Given the description of an element on the screen output the (x, y) to click on. 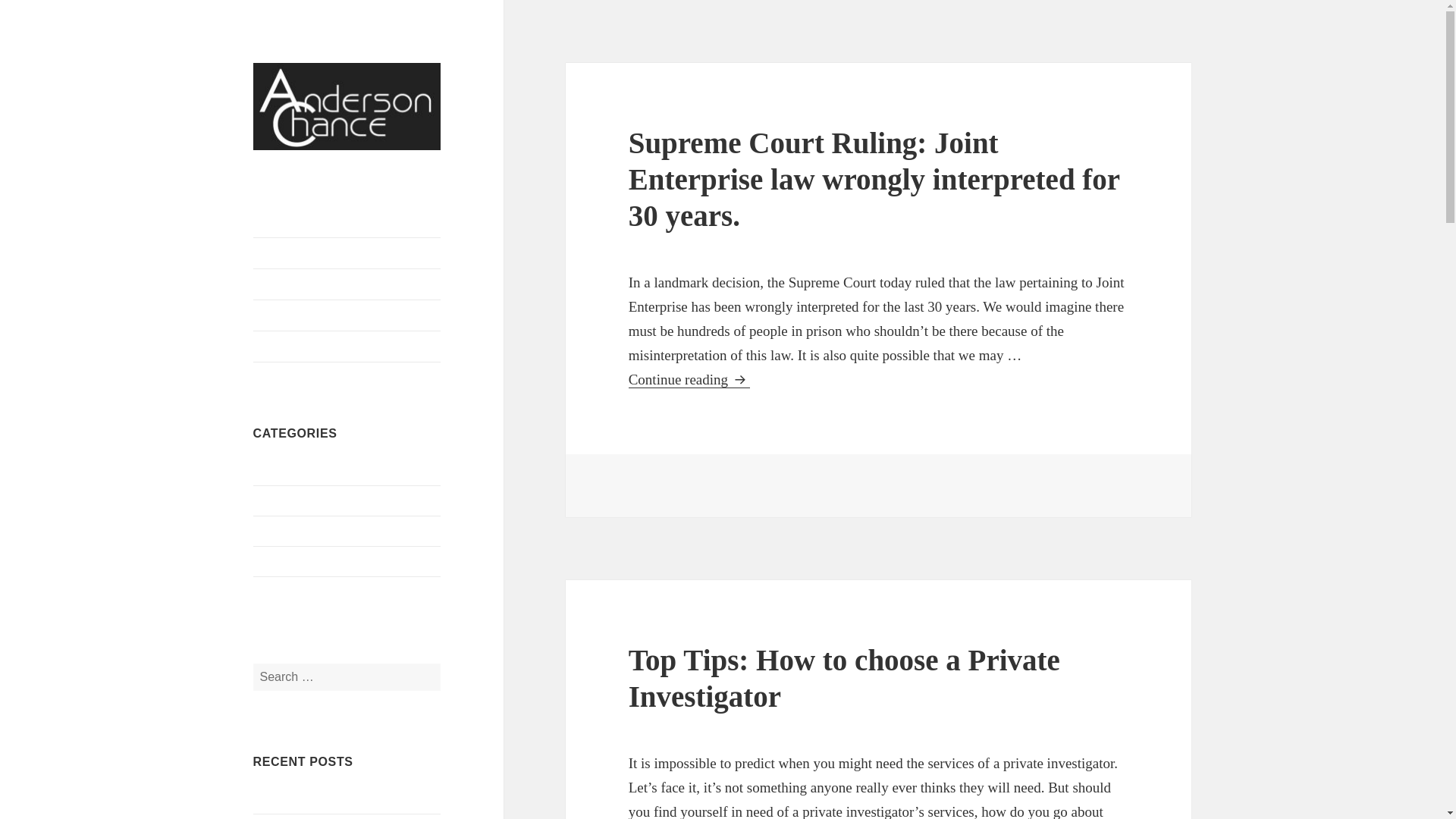
Uncategorised (288, 590)
Private Investigators (347, 315)
General (272, 499)
Social Justice? (288, 797)
Private Investigations (305, 560)
Home (347, 253)
FAQ (347, 284)
